Given the description of an element on the screen output the (x, y) to click on. 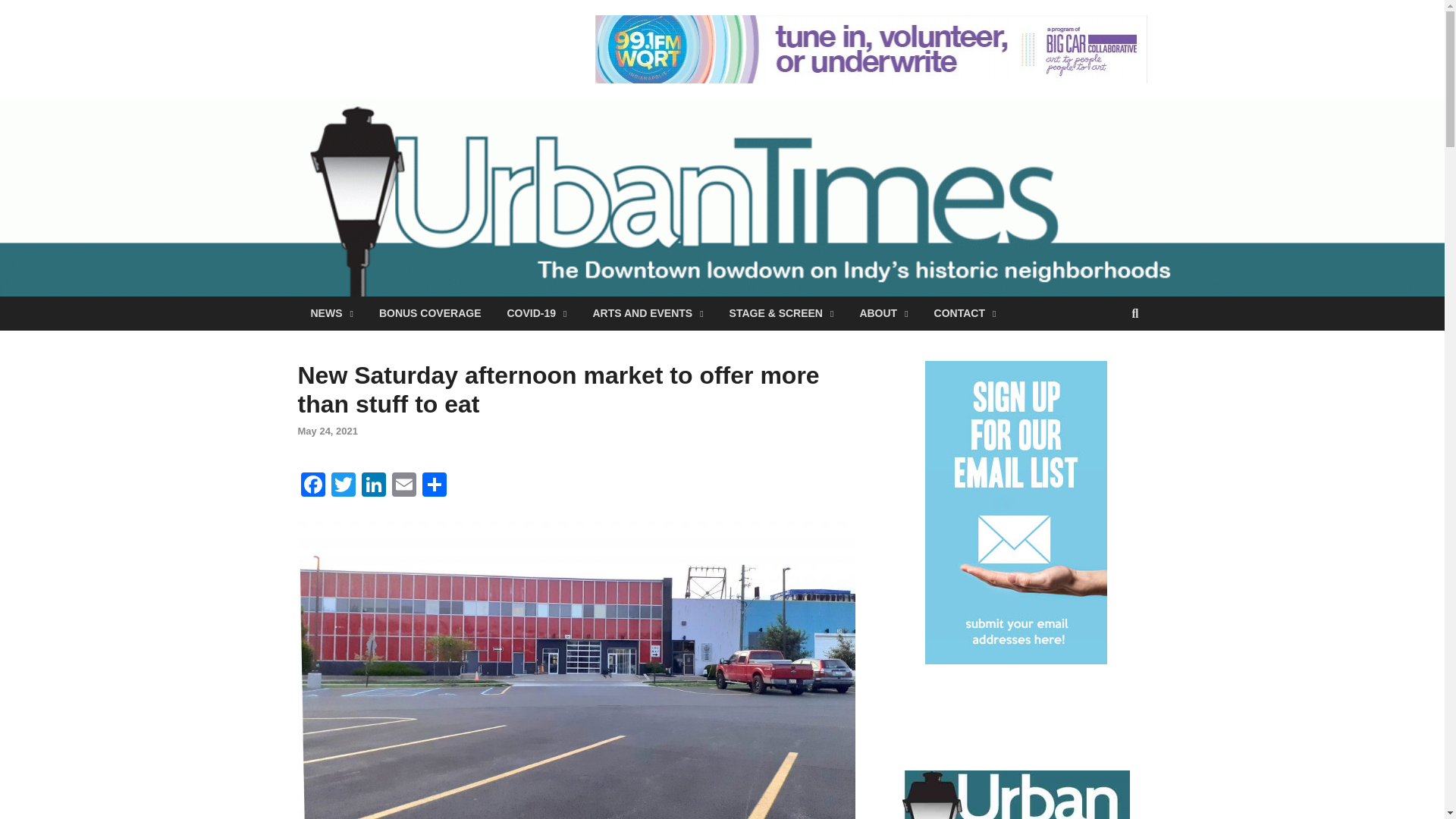
BONUS COVERAGE (430, 313)
LinkedIn (373, 486)
CONTACT (965, 313)
Email (403, 486)
Twitter (342, 486)
ABOUT (882, 313)
NEWS (331, 313)
ARTS AND EVENTS (647, 313)
COVID-19 (536, 313)
Facebook (312, 486)
Newsstand Locations (1015, 794)
